Given the description of an element on the screen output the (x, y) to click on. 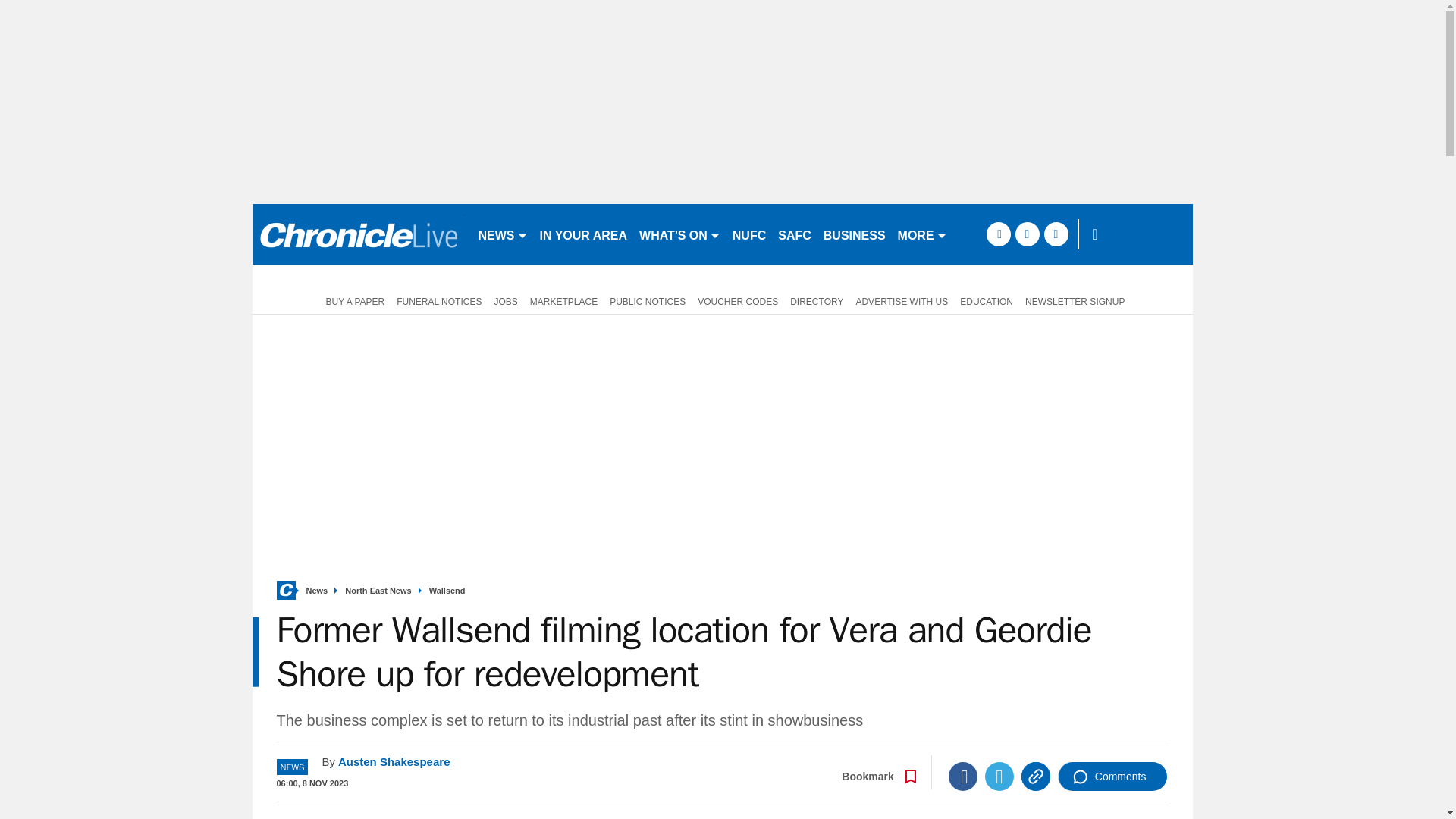
Facebook (962, 776)
WHAT'S ON (679, 233)
NEWS (501, 233)
IN YOUR AREA (583, 233)
MORE (922, 233)
facebook (997, 233)
instagram (1055, 233)
Twitter (999, 776)
Comments (1112, 776)
twitter (1026, 233)
